Given the description of an element on the screen output the (x, y) to click on. 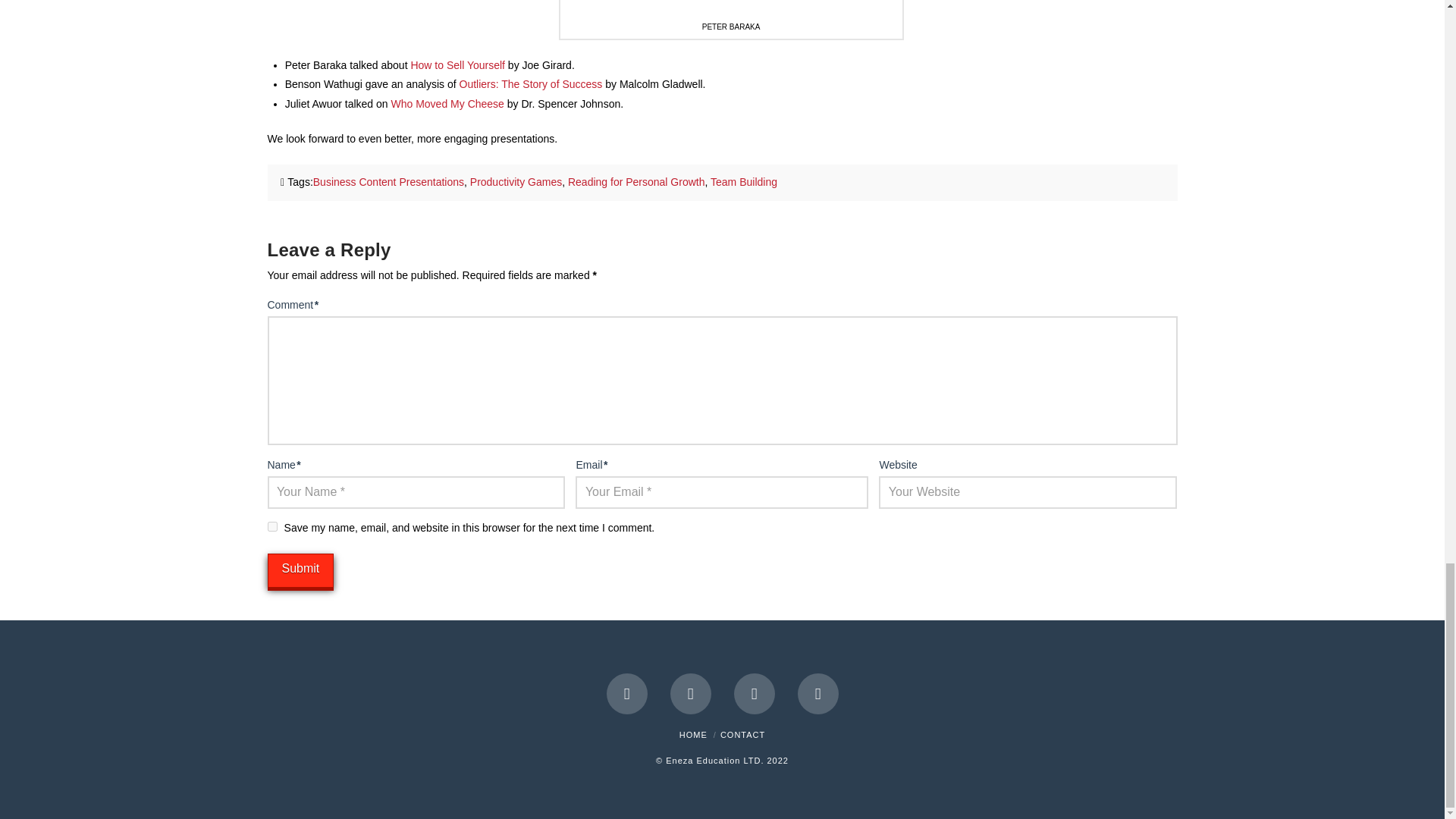
Facebook (627, 693)
HOME (693, 734)
Reading for Personal Growth (635, 182)
Business Content Presentations (388, 182)
Instagram (817, 693)
CONTACT (742, 734)
Productivity Games (516, 182)
LinkedIn (753, 693)
Outliers: The Story of Success (531, 83)
Team Building (743, 182)
yes (271, 526)
Submit (299, 570)
Who Moved My Cheese (447, 103)
How to Sell Yourself (457, 64)
Submit (299, 570)
